Given the description of an element on the screen output the (x, y) to click on. 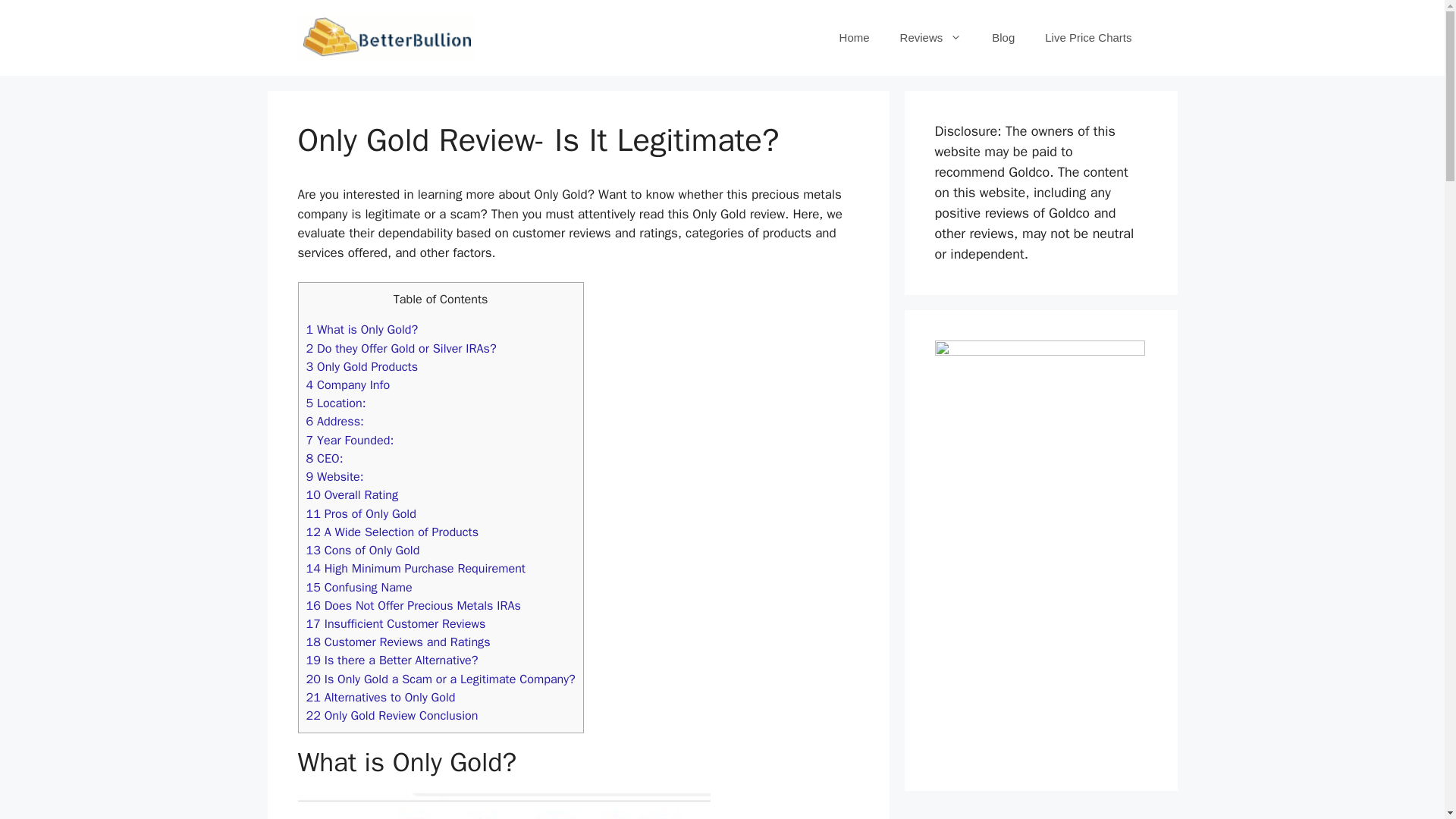
Reviews (930, 37)
19 Is there a Better Alternative? (392, 659)
1 What is Only Gold? (362, 329)
17 Insufficient Customer Reviews (395, 623)
2 Do they Offer Gold or Silver IRAs? (400, 347)
16 Does Not Offer Precious Metals IRAs (413, 605)
12 A Wide Selection of Products (392, 531)
Live Price Charts (1088, 37)
11 Pros of Only Gold (360, 513)
20 Is Only Gold a Scam or a Legitimate Company? (440, 678)
